Given the description of an element on the screen output the (x, y) to click on. 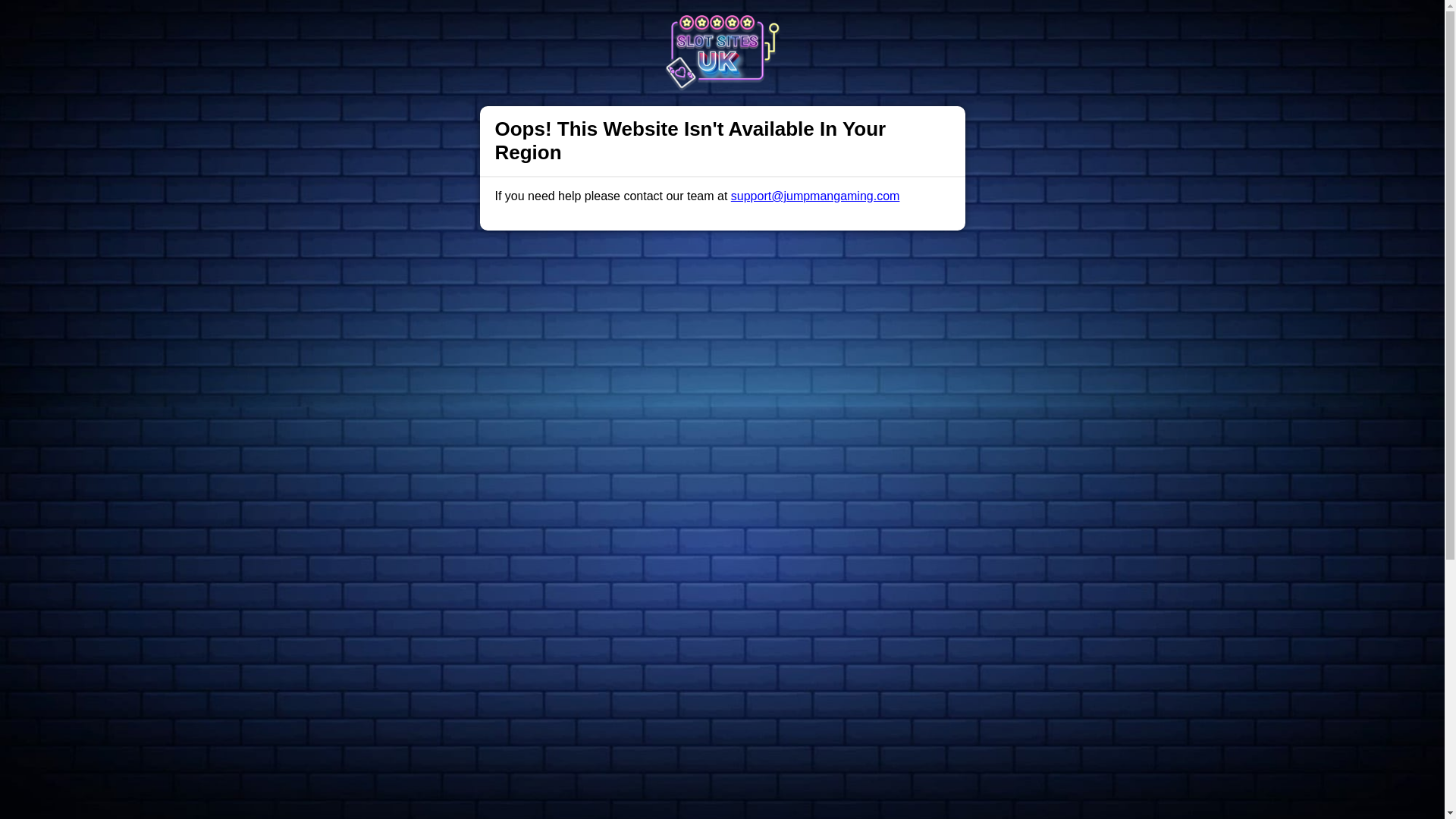
All Games (582, 26)
Login (963, 26)
Promotions (507, 26)
Join Now (1054, 26)
Trophies (438, 26)
Back To All Games (722, 763)
Back To All Games (721, 763)
